Given the description of an element on the screen output the (x, y) to click on. 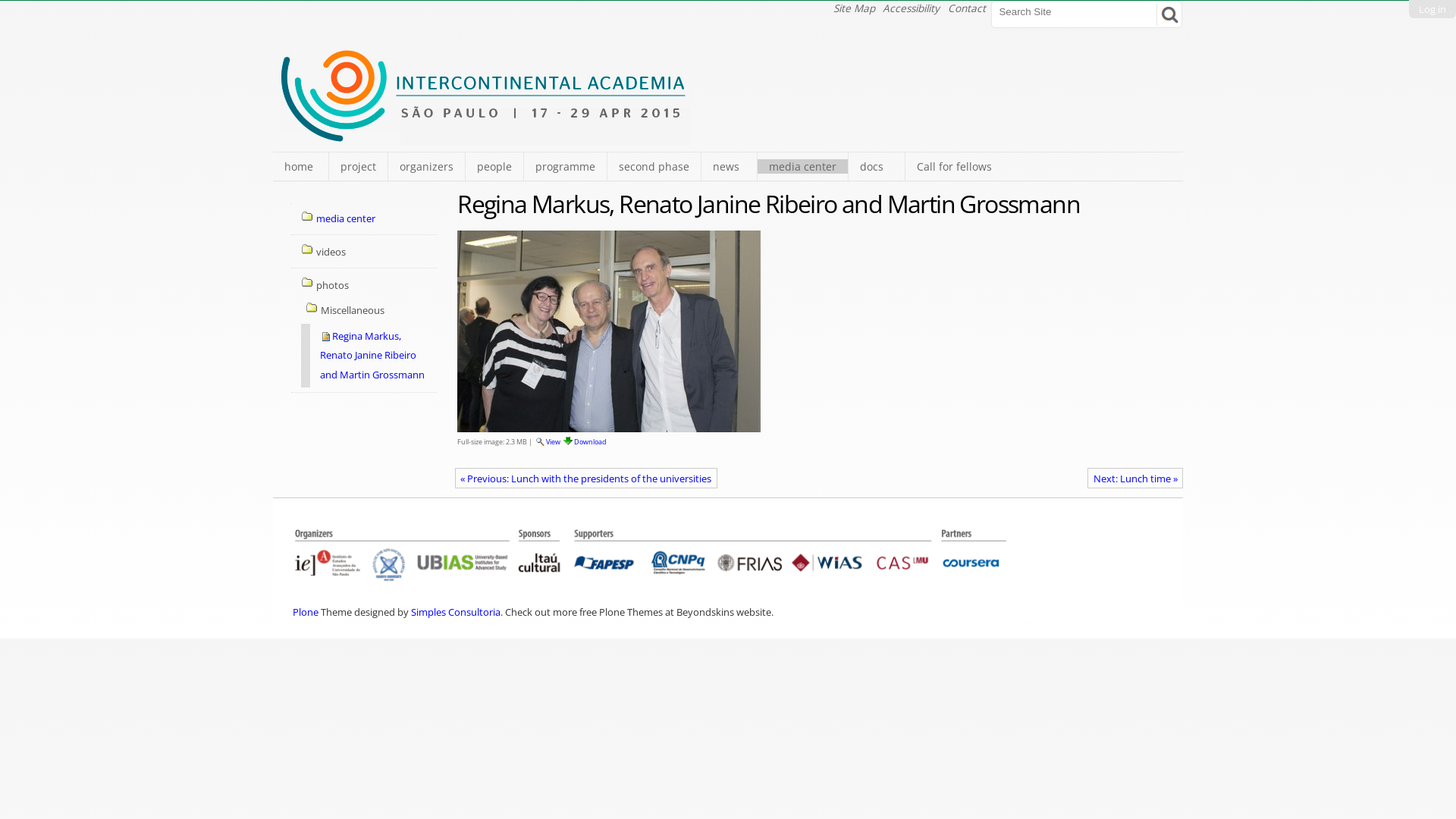
View Element type: text (547, 441)
media center Element type: text (363, 219)
Download image Element type: hover (567, 440)
Search Site Element type: hover (1076, 10)
Contact Element type: text (966, 7)
Download Element type: text (583, 441)
Footer Element type: hover (649, 555)
Navigation Element type: text (294, 212)
Simples Consultoria Element type: text (455, 611)
Regina Markus, Renato Janine Ribeiro and Martin Grossmann Element type: hover (608, 331)
Search Element type: text (1169, 10)
Plone Element type: text (305, 611)
news Element type: text (728, 166)
Site Map Element type: text (854, 7)
second phase Element type: text (653, 166)
project Element type: text (357, 166)
media center Element type: text (801, 166)
organizers Element type: text (425, 166)
docs Element type: text (875, 166)
programme Element type: text (564, 166)
Log in Element type: text (1432, 8)
Intercontinental Academia logo Element type: hover (484, 95)
photos Element type: text (363, 285)
Miscellaneous Element type: text (365, 310)
Call for fellows Element type: text (953, 166)
Regina Markus, Renato Janine Ribeiro and Martin Grossmann Element type: text (368, 355)
View image Element type: hover (539, 441)
Intercontinental Academia Element type: hover (484, 136)
videos Element type: text (363, 251)
people Element type: text (493, 166)
Accessibility Element type: text (910, 7)
home Element type: text (300, 166)
